Given the description of an element on the screen output the (x, y) to click on. 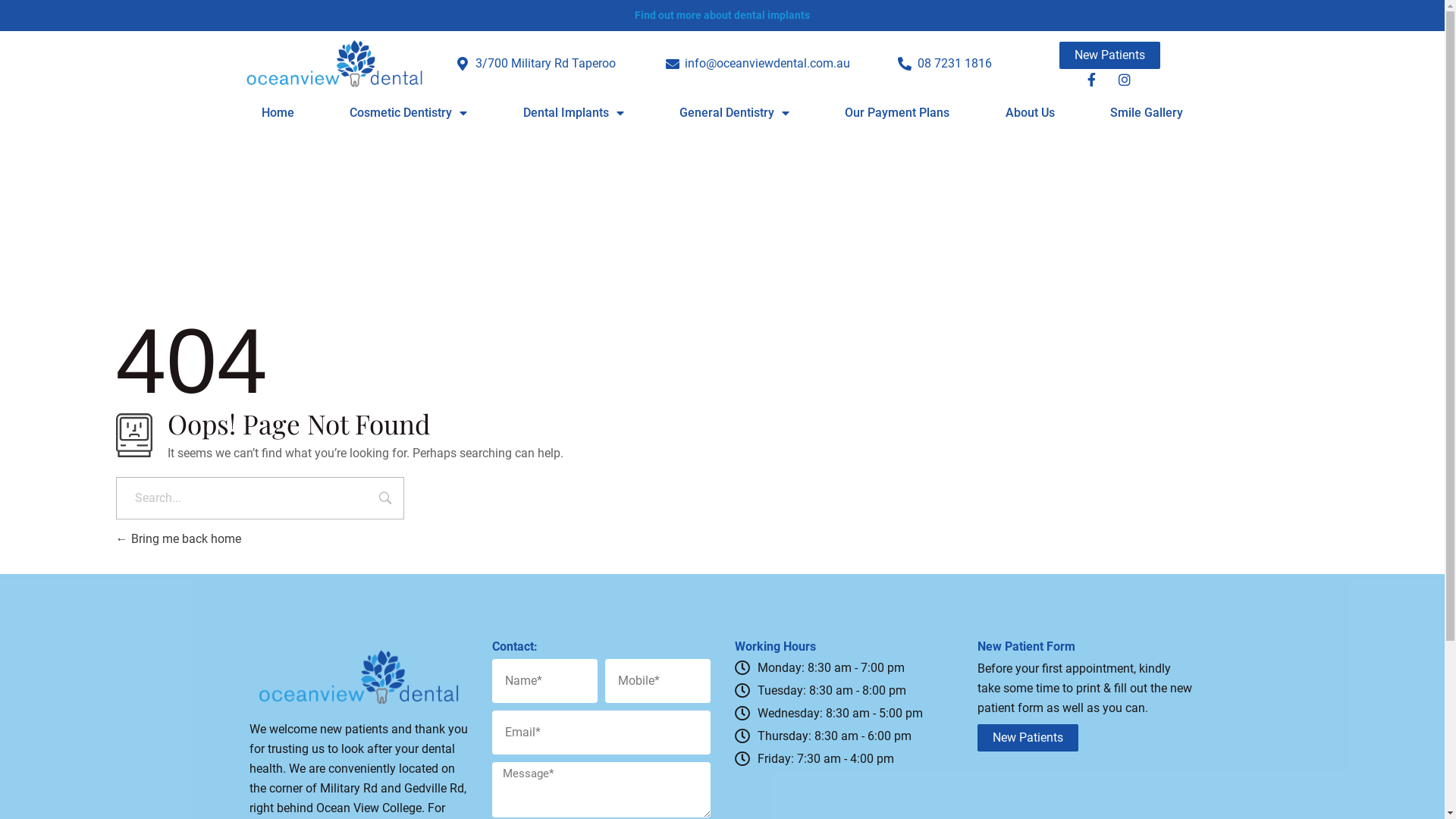
Find out more about dental implants Element type: text (721, 15)
About Us Element type: text (1029, 112)
Bring me back home Element type: text (177, 538)
New Patients Element type: text (1109, 55)
Home Element type: text (277, 112)
Dental Implants Element type: text (573, 112)
General Dentistry Element type: text (733, 112)
3/700 Military Rd Taperoo Element type: text (534, 63)
info@oceanviewdental.com.au Element type: text (756, 63)
Smile Gallery Element type: text (1146, 112)
Cosmetic Dentistry Element type: text (408, 112)
New Patients Element type: text (1026, 737)
08 7231 1816 Element type: text (944, 63)
Our Payment Plans Element type: text (897, 112)
Search Element type: text (385, 499)
